Given the description of an element on the screen output the (x, y) to click on. 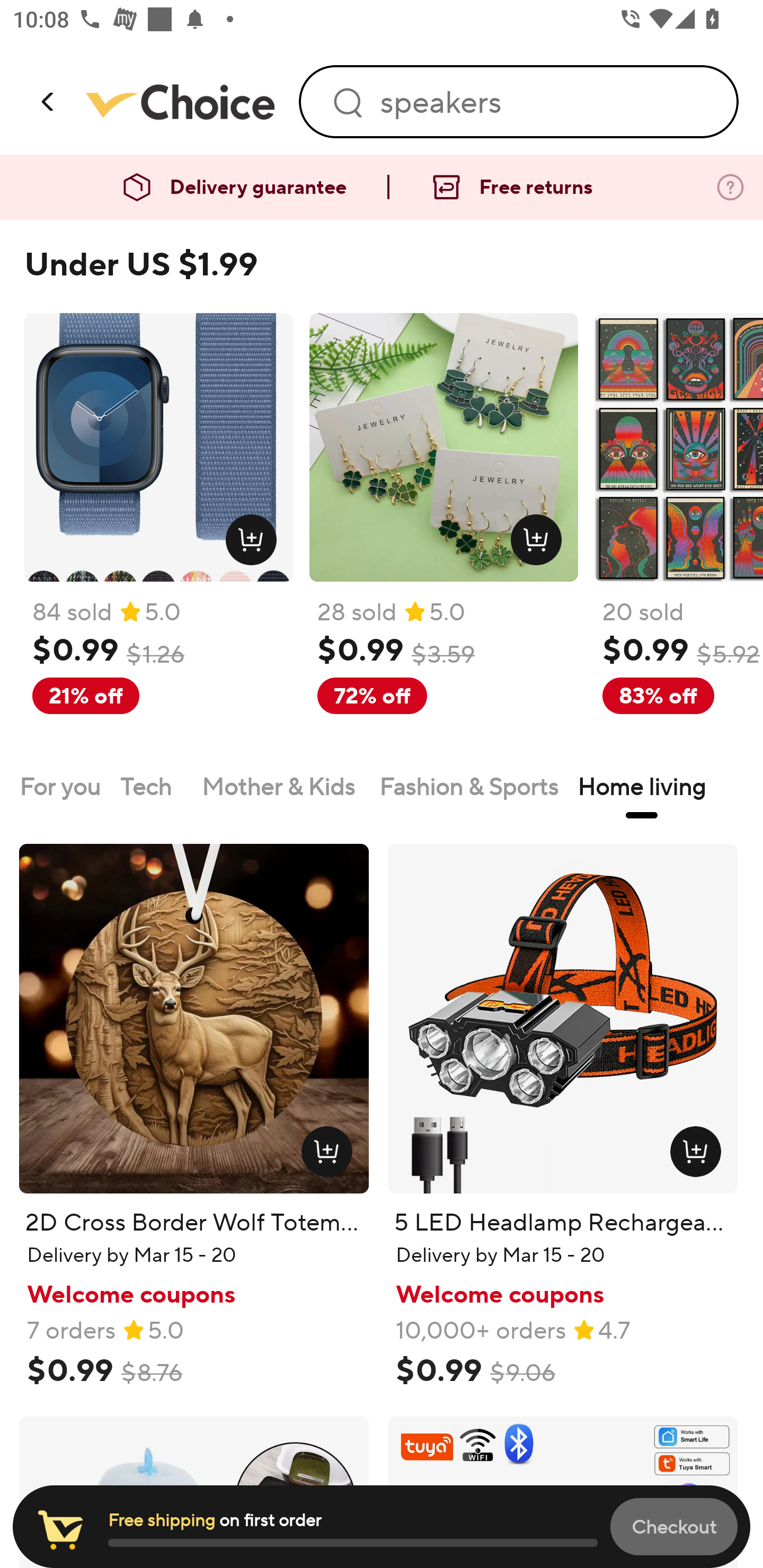
speakers (546, 101)
 (48, 100)
Delivery guarantee Free returns (381, 187)
84 sold 5.0 $_0.99 $_1.26 21% off (158, 533)
28 sold 5.0 $_0.99 $_3.59 72% off (443, 533)
20 sold $_0.99 $_5.92 83% off (678, 533)
For you (59, 786)
Tech   (150, 786)
Mother & Kids  (280, 786)
Fashion & Sports (468, 786)
Home living (641, 786)
Free shipping on first order 0.0 Checkout (381, 1526)
Checkout (673, 1526)
